Given the description of an element on the screen output the (x, y) to click on. 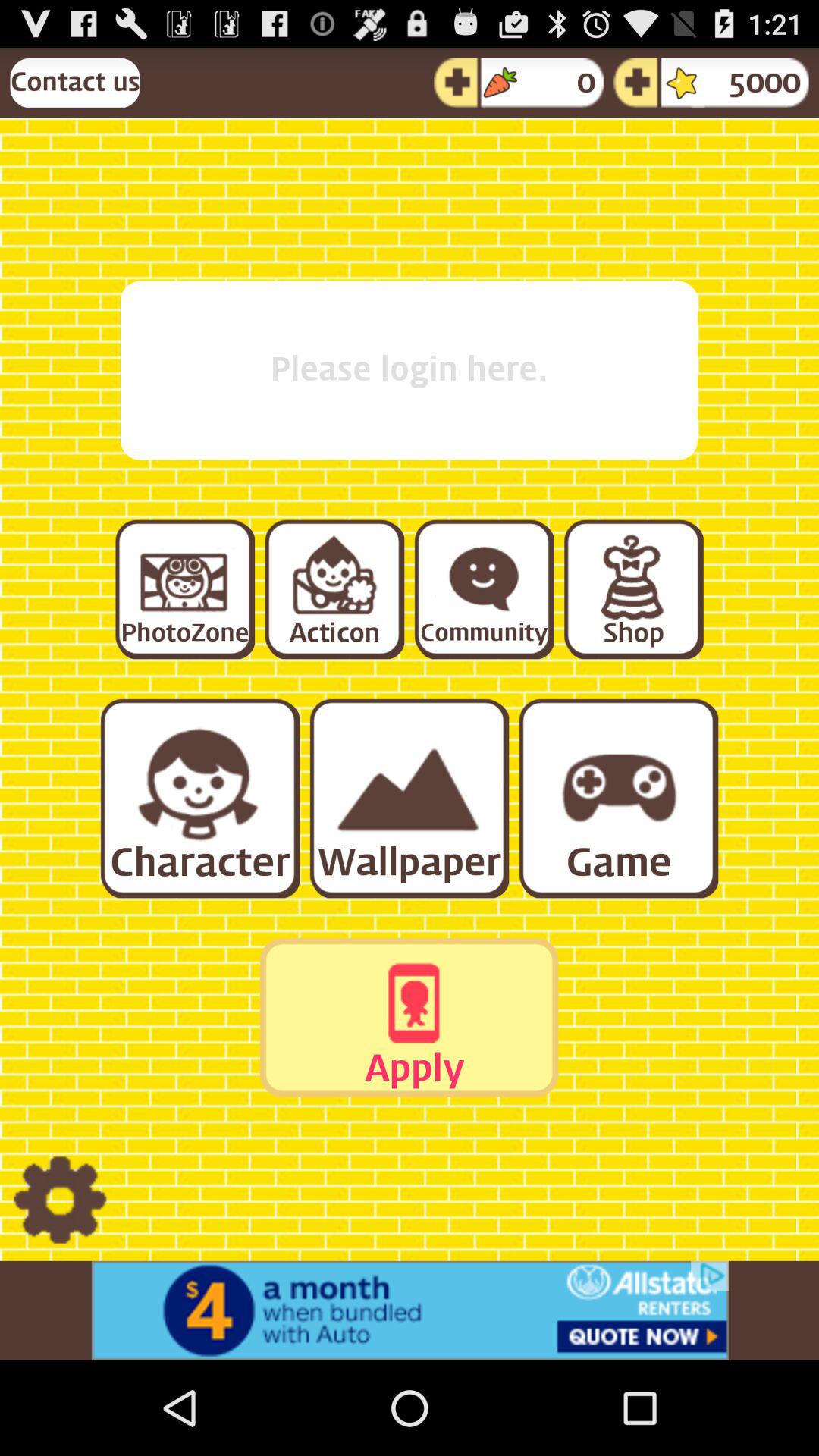
apply (408, 1017)
